Given the description of an element on the screen output the (x, y) to click on. 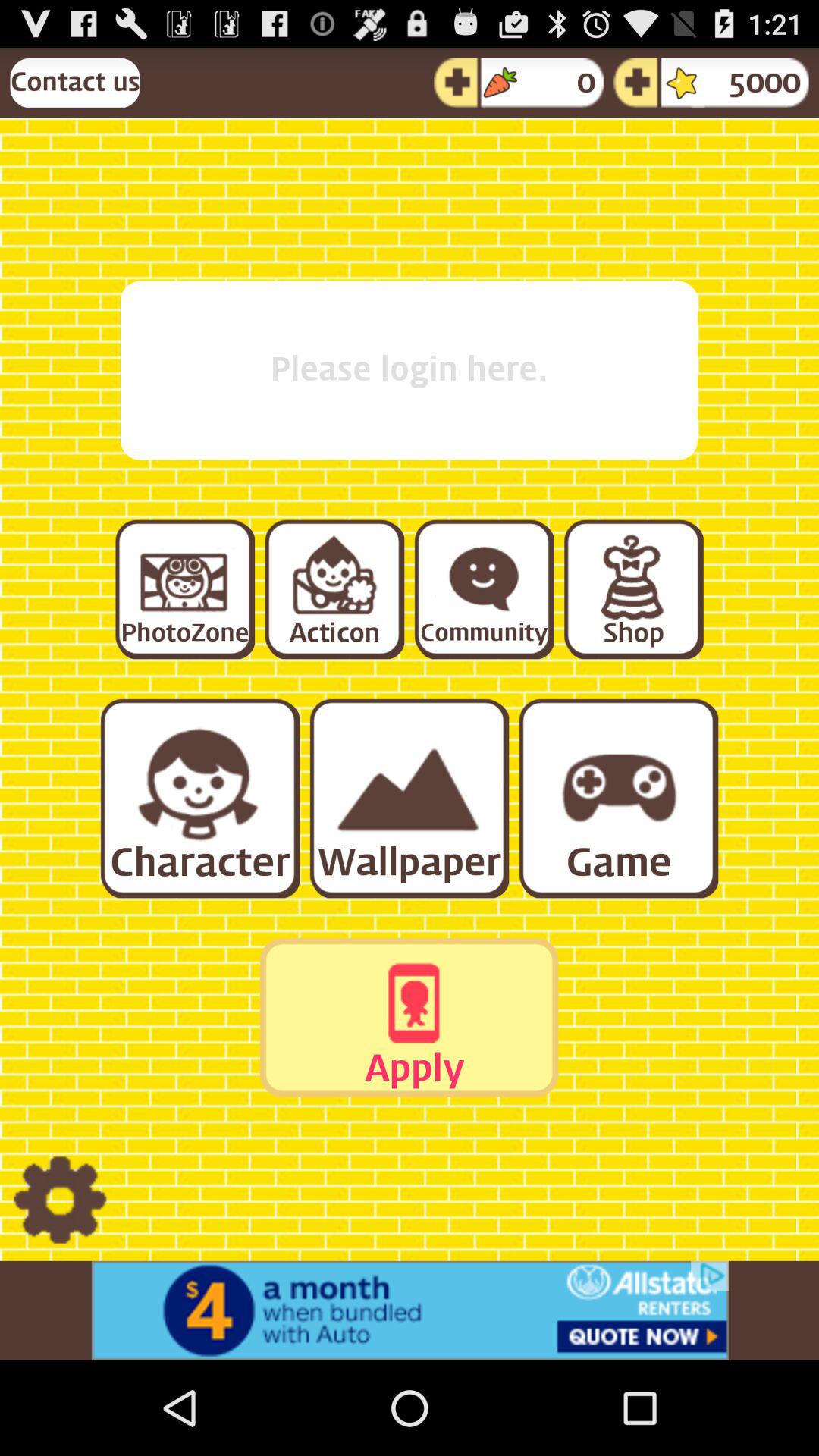
apply (408, 1017)
